Given the description of an element on the screen output the (x, y) to click on. 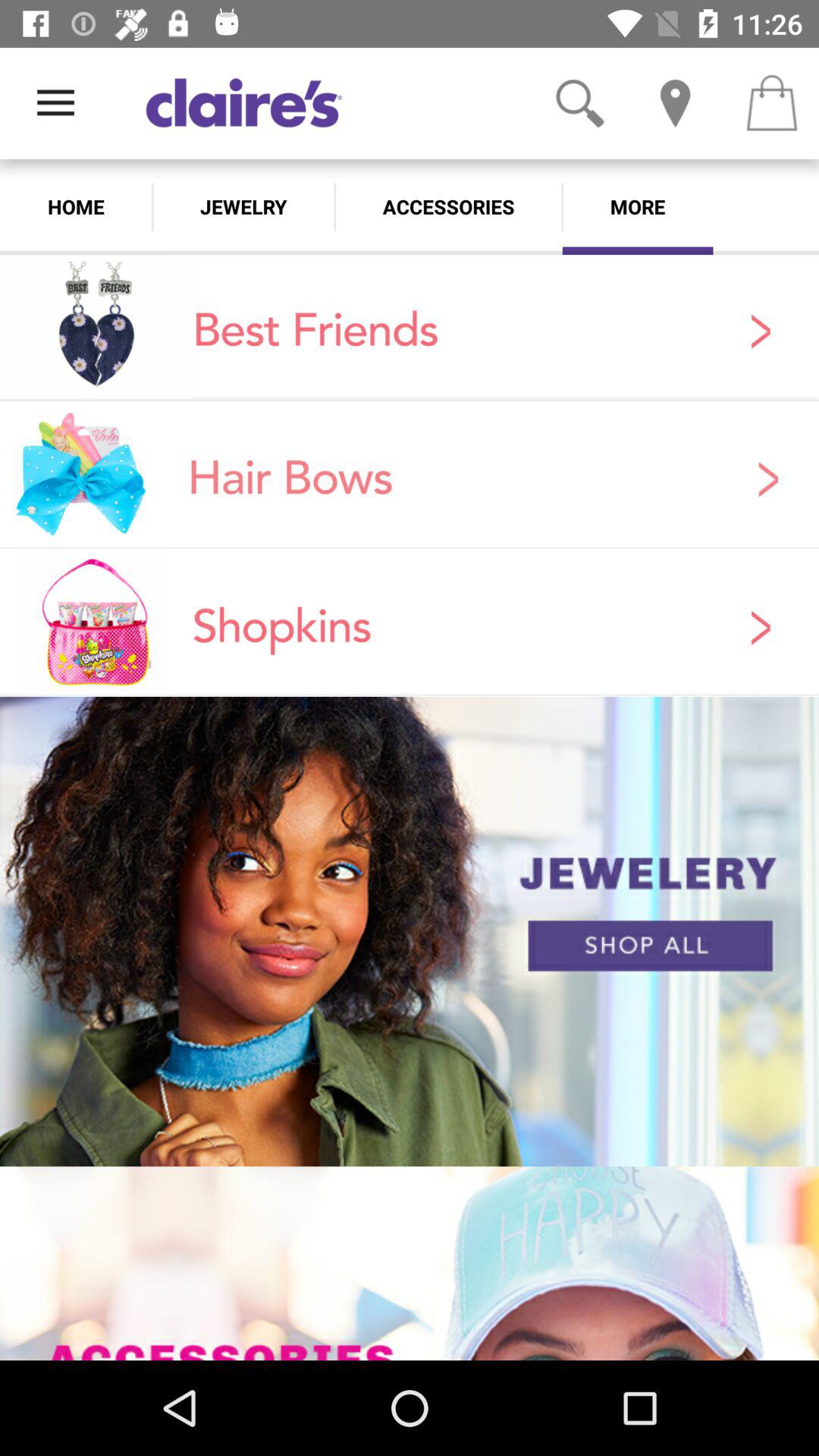
click the accessories icon (448, 206)
